Given the description of an element on the screen output the (x, y) to click on. 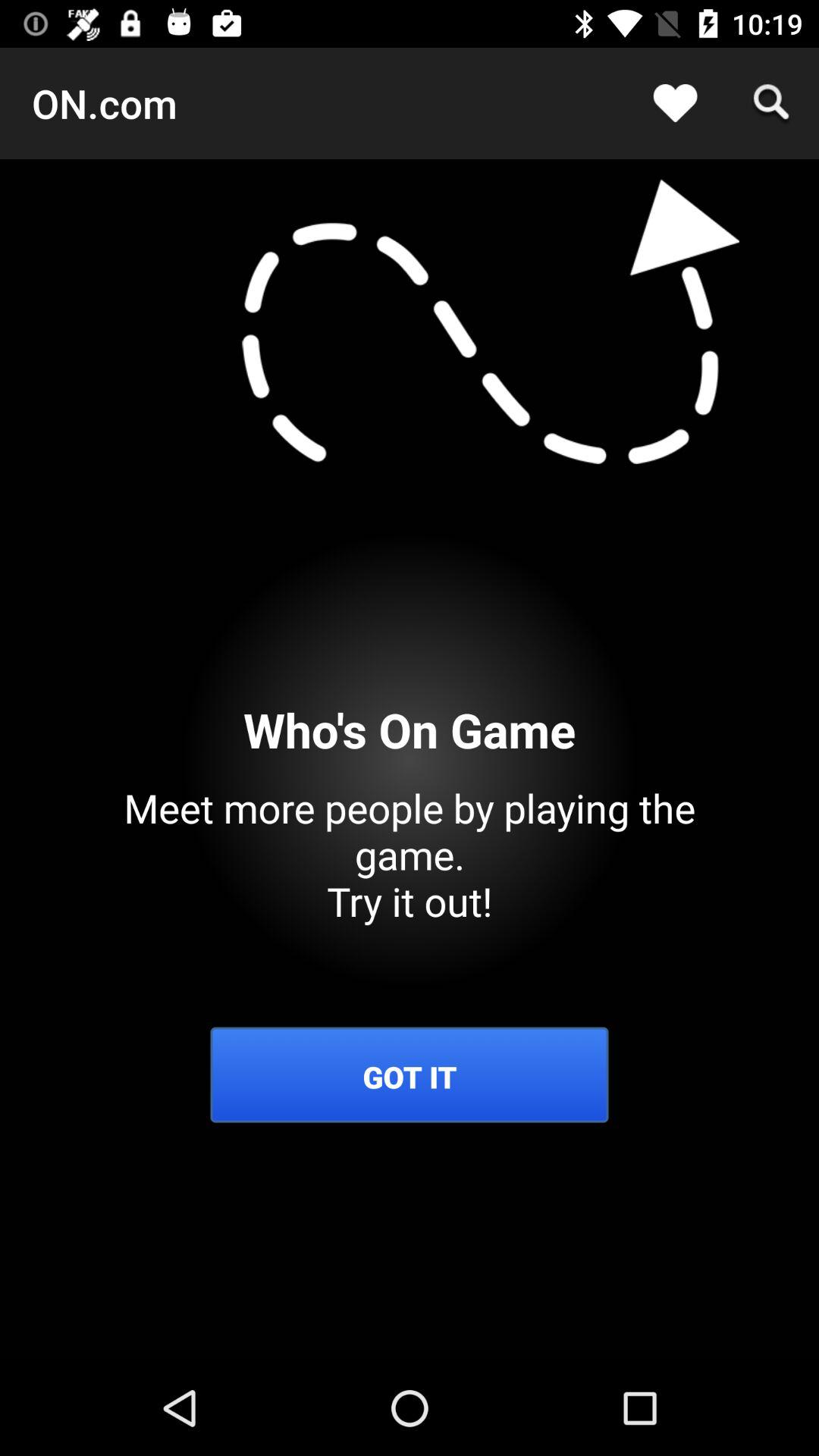
click item below meet more people item (409, 1076)
